Given the description of an element on the screen output the (x, y) to click on. 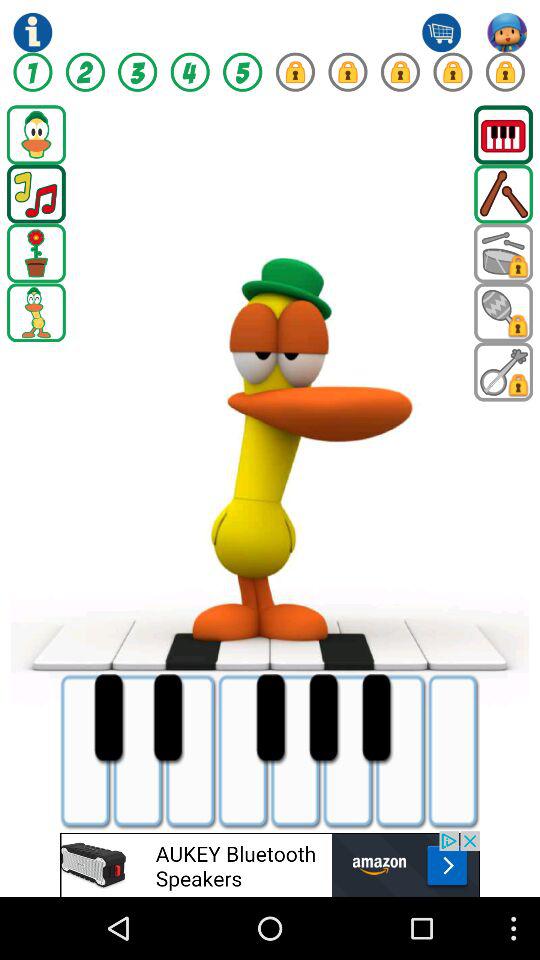
select level 5 (242, 71)
